Given the description of an element on the screen output the (x, y) to click on. 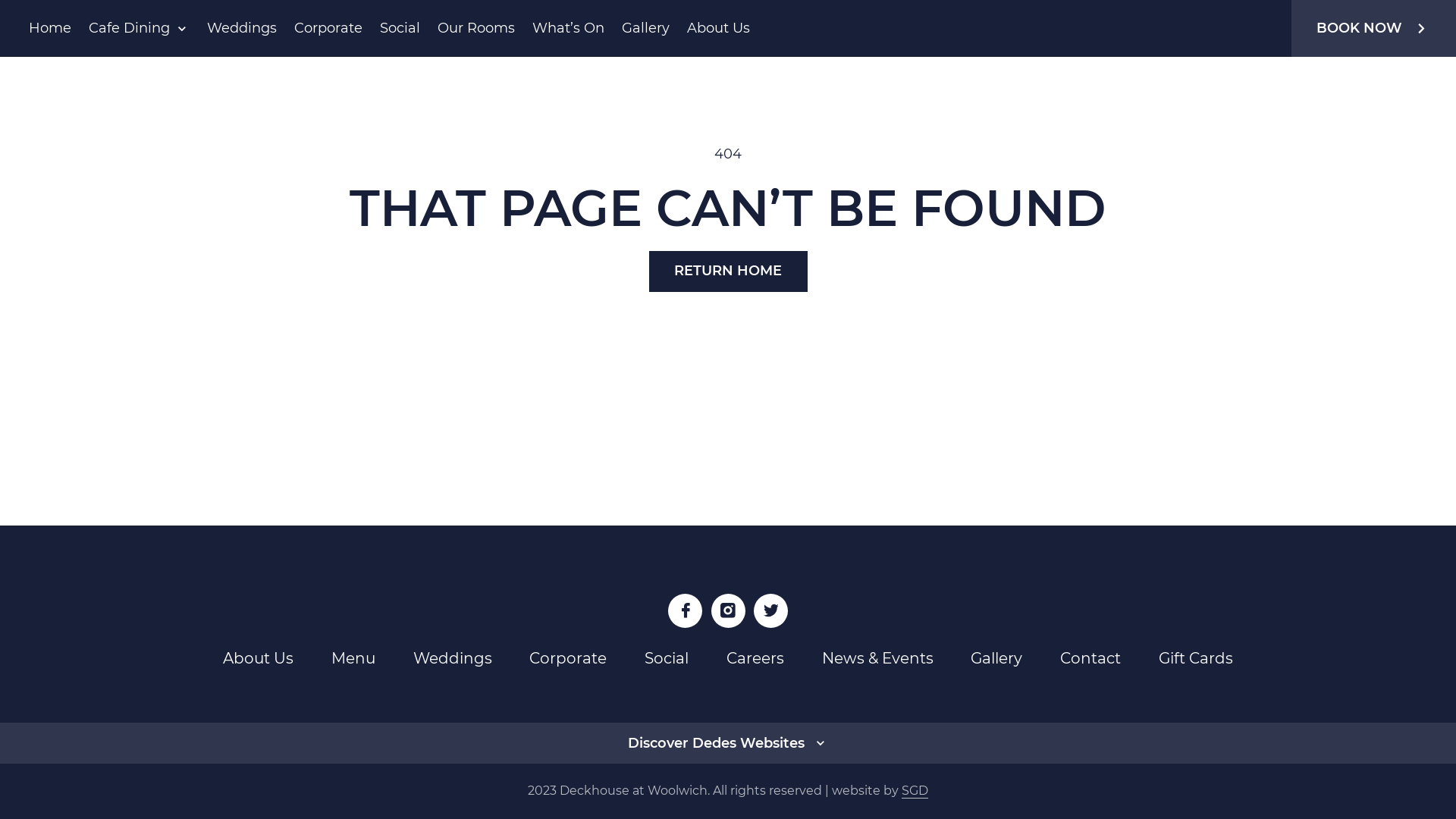
Gift Cards Element type: text (1195, 658)
Gallery Element type: text (996, 658)
Social Element type: text (399, 27)
RETURN HOME Element type: text (728, 271)
Corporate Element type: text (328, 27)
SGD Element type: text (914, 791)
About Us Element type: text (257, 658)
Menu Element type: text (353, 658)
About Us Element type: text (718, 27)
Cafe Dining Element type: text (128, 27)
Careers Element type: text (755, 658)
Contact Element type: text (1090, 658)
Weddings Element type: text (241, 27)
Corporate Element type: text (567, 658)
Social Element type: text (666, 658)
Home Element type: text (49, 27)
Gallery Element type: text (645, 27)
Our Rooms Element type: text (475, 27)
News & Events Element type: text (877, 658)
Weddings Element type: text (451, 658)
Skip to main content Element type: text (28, 84)
